Given the description of an element on the screen output the (x, y) to click on. 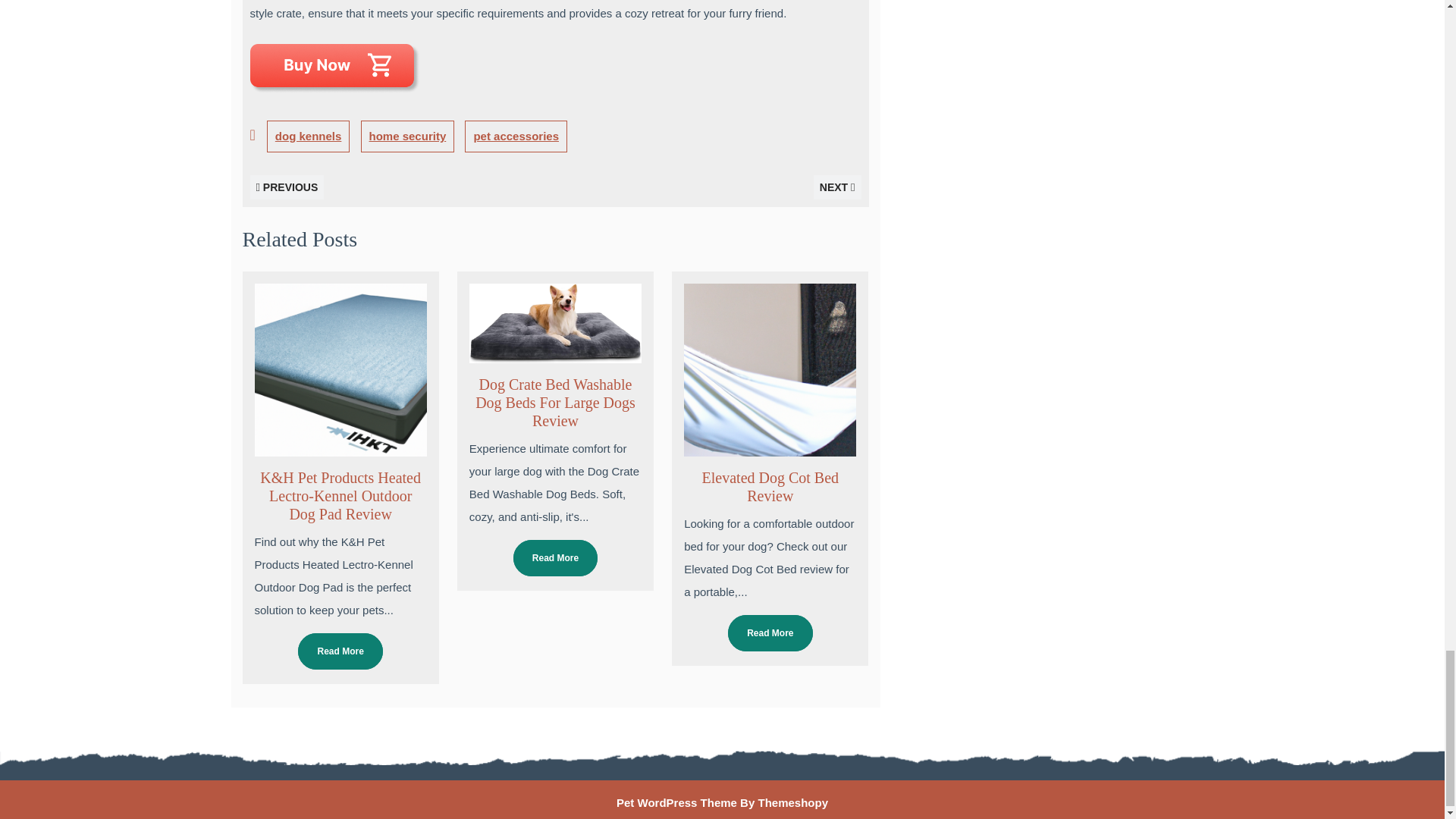
PREVIOUS (287, 186)
dog kennels (308, 136)
Dog Crate Bed Washable Dog Beds For Large Dogs Review (555, 402)
Read More (554, 557)
NEXT (837, 186)
Read More (339, 651)
Read More (770, 633)
home security (407, 136)
